Given the description of an element on the screen output the (x, y) to click on. 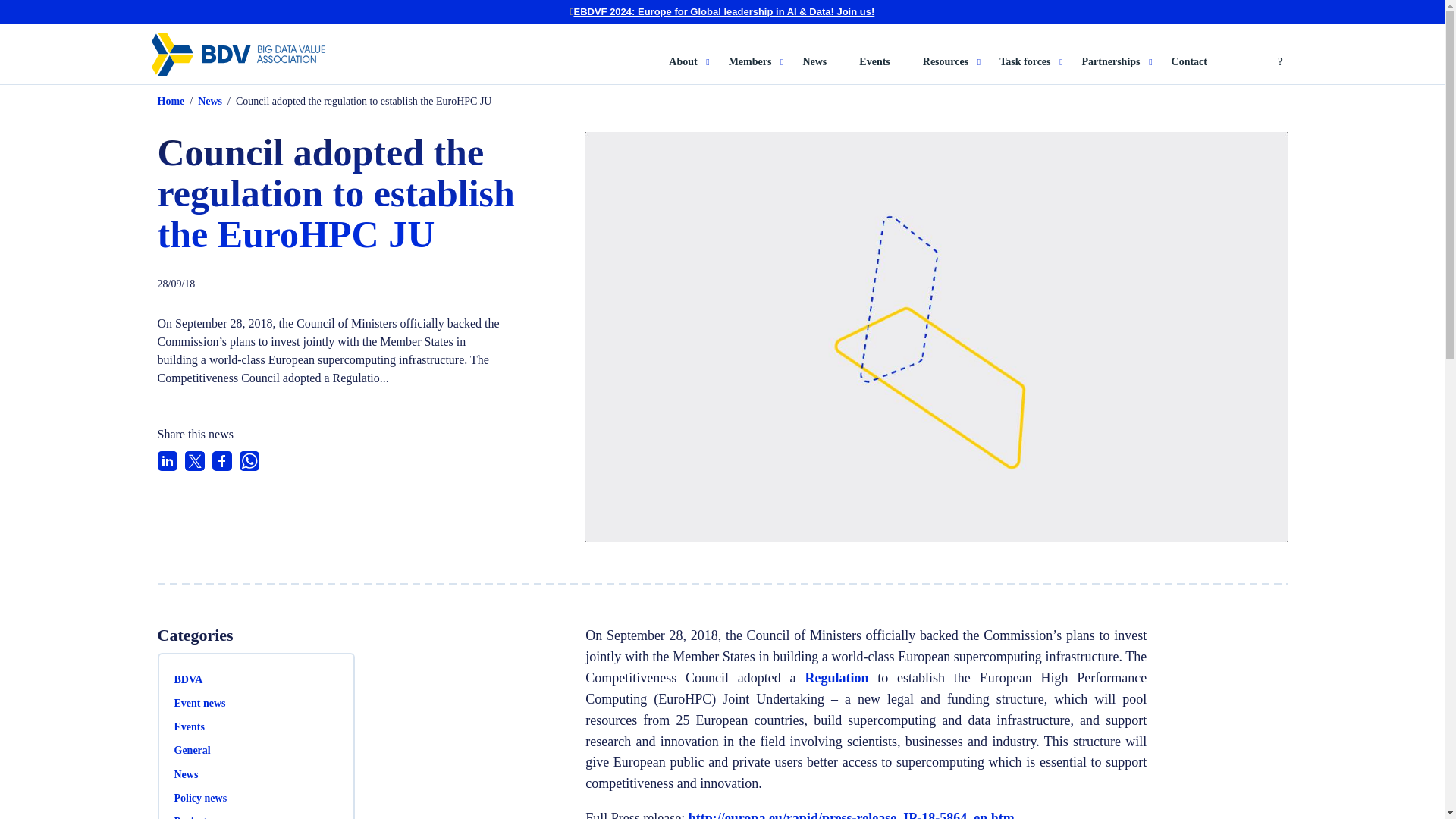
Task forces (1031, 69)
Resources (952, 69)
Events (874, 69)
